Given the description of an element on the screen output the (x, y) to click on. 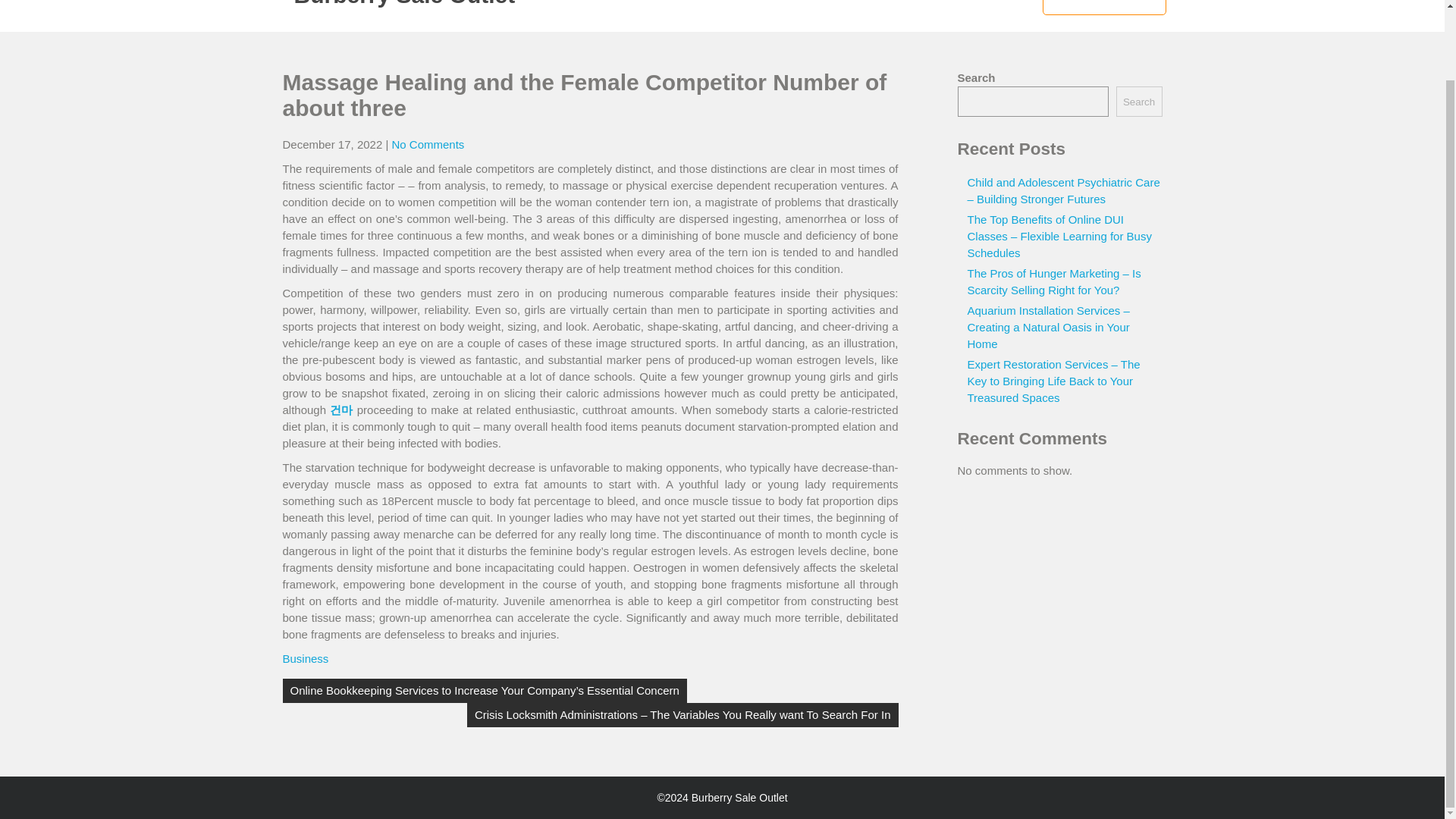
DONATE NOW (1104, 7)
No Comments (427, 144)
Burberry Sale Outlet (404, 3)
Search (1138, 101)
Business (305, 658)
